Given the description of an element on the screen output the (x, y) to click on. 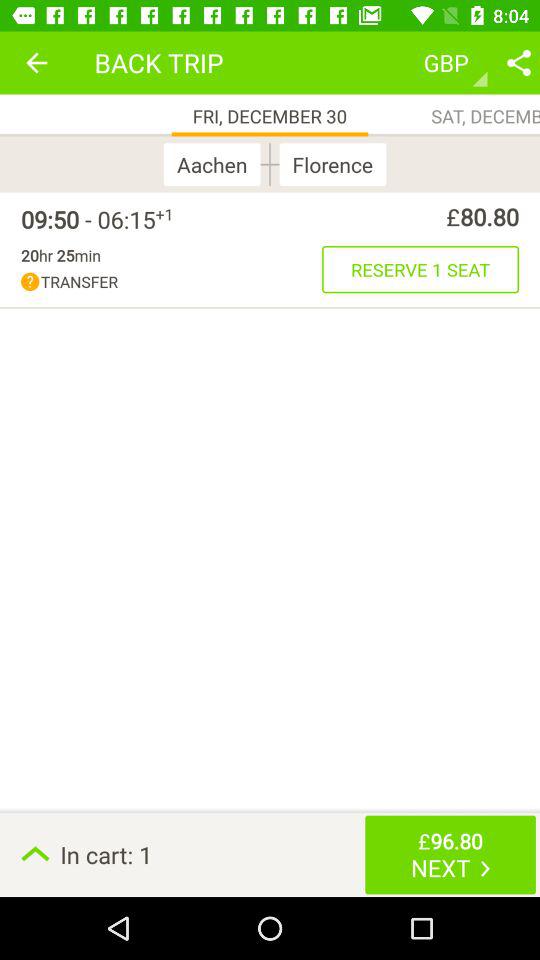
choose the item next to back trip item (36, 62)
